Given the description of an element on the screen output the (x, y) to click on. 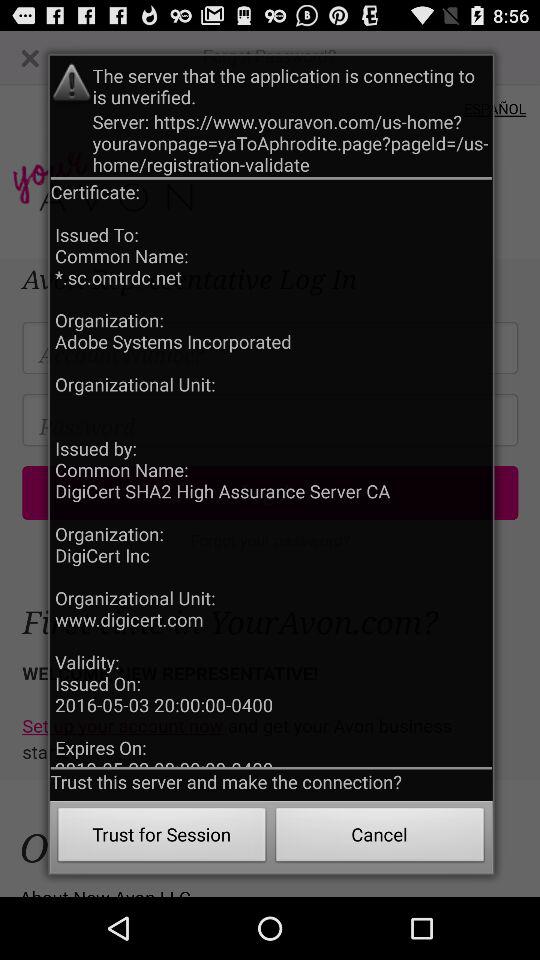
tap icon to the left of cancel (162, 837)
